Given the description of an element on the screen output the (x, y) to click on. 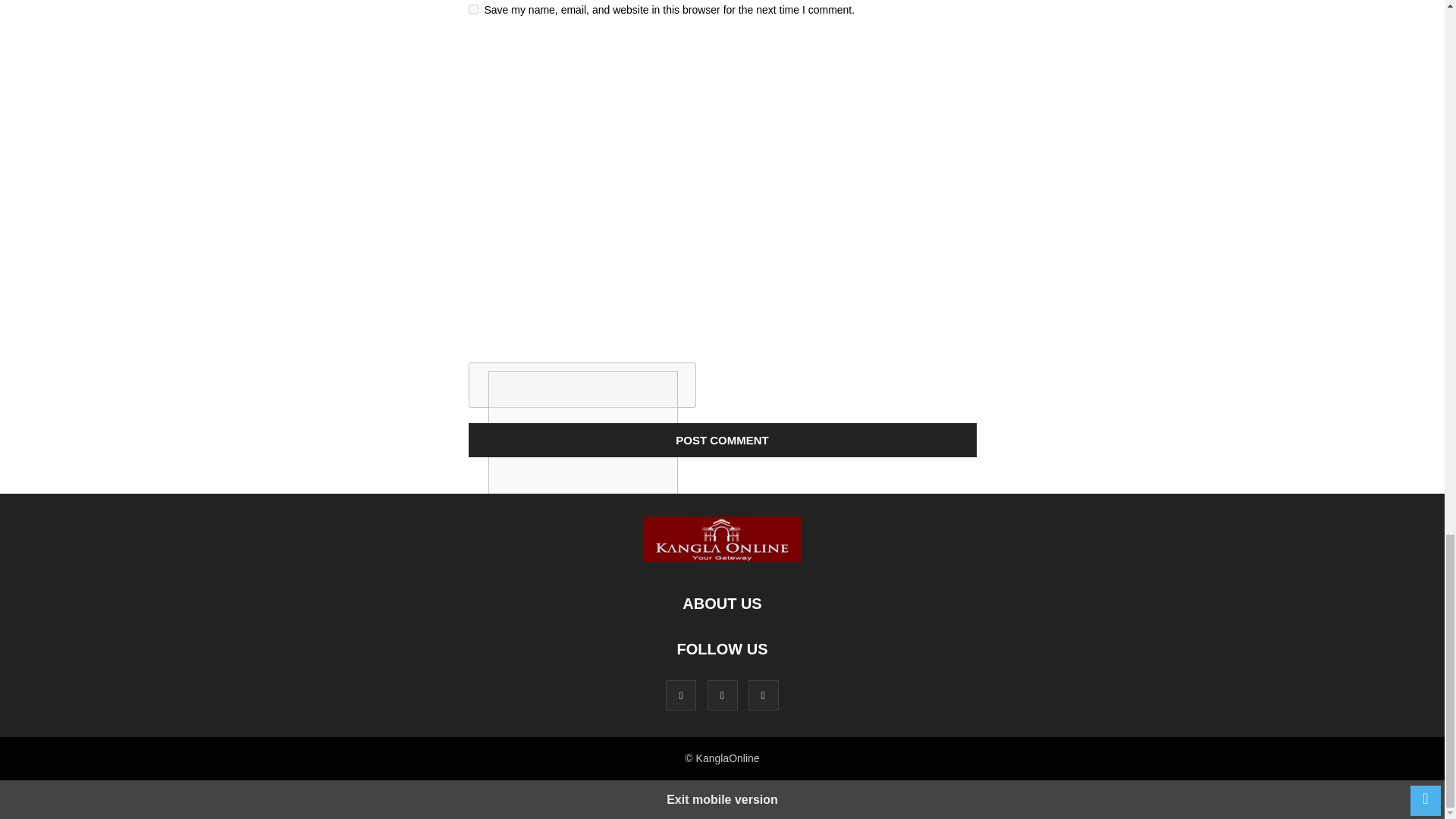
Facebook (680, 694)
yes (473, 9)
Post Comment (722, 440)
Youtube (763, 694)
Twitter (721, 694)
Post Comment (722, 440)
